Given the description of an element on the screen output the (x, y) to click on. 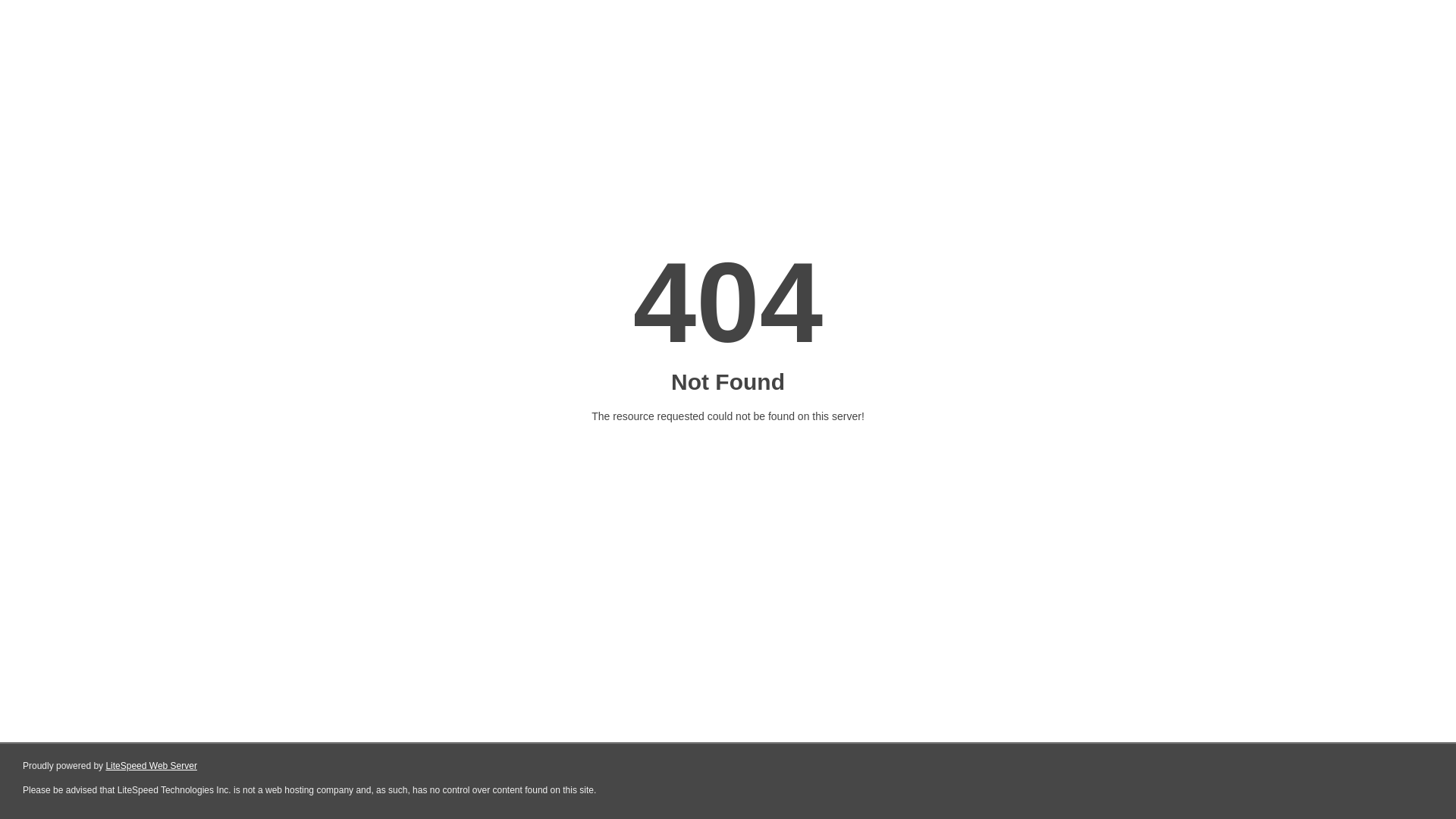
LiteSpeed Web Server Element type: text (151, 765)
